Given the description of an element on the screen output the (x, y) to click on. 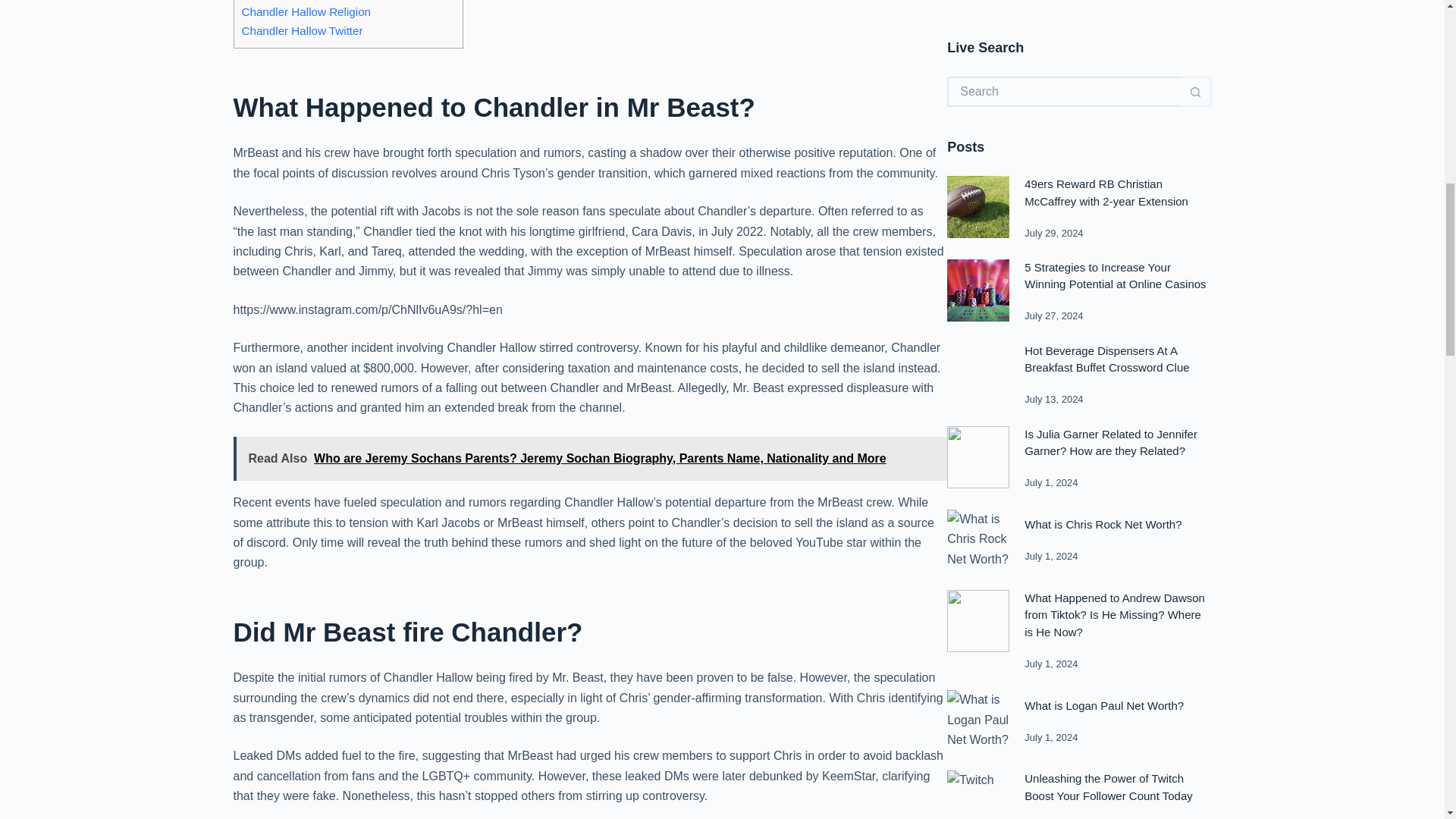
Chandler Hallow Twitter (301, 30)
Chandler Hallow Religion (306, 11)
49ers Reward RB Christian McCaffrey with 2-year Extension (1106, 8)
